Given the description of an element on the screen output the (x, y) to click on. 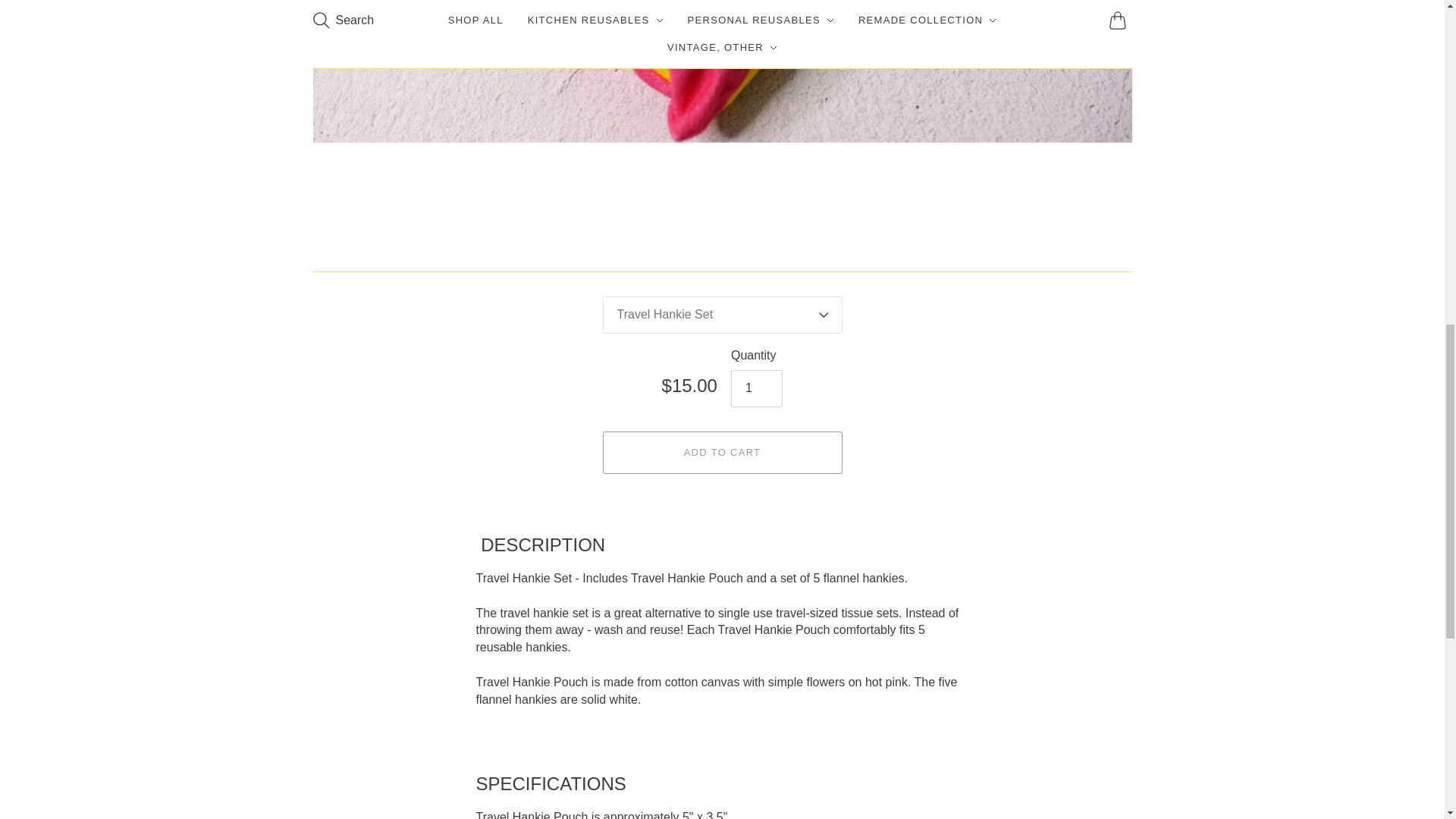
1 (756, 388)
